Given the description of an element on the screen output the (x, y) to click on. 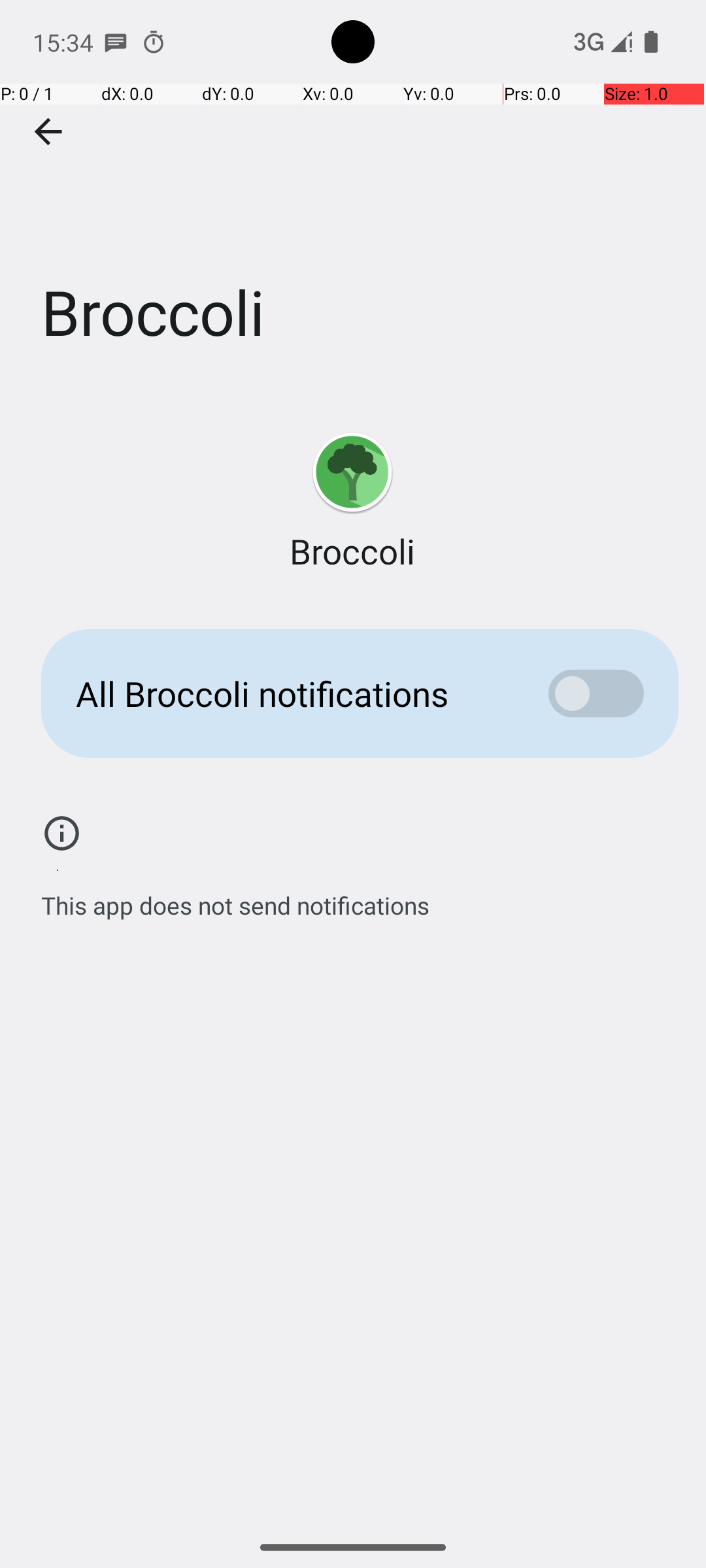
All Broccoli notifications Element type: android.widget.TextView (291, 693)
This app does not send notifications Element type: android.widget.TextView (235, 898)
